Given the description of an element on the screen output the (x, y) to click on. 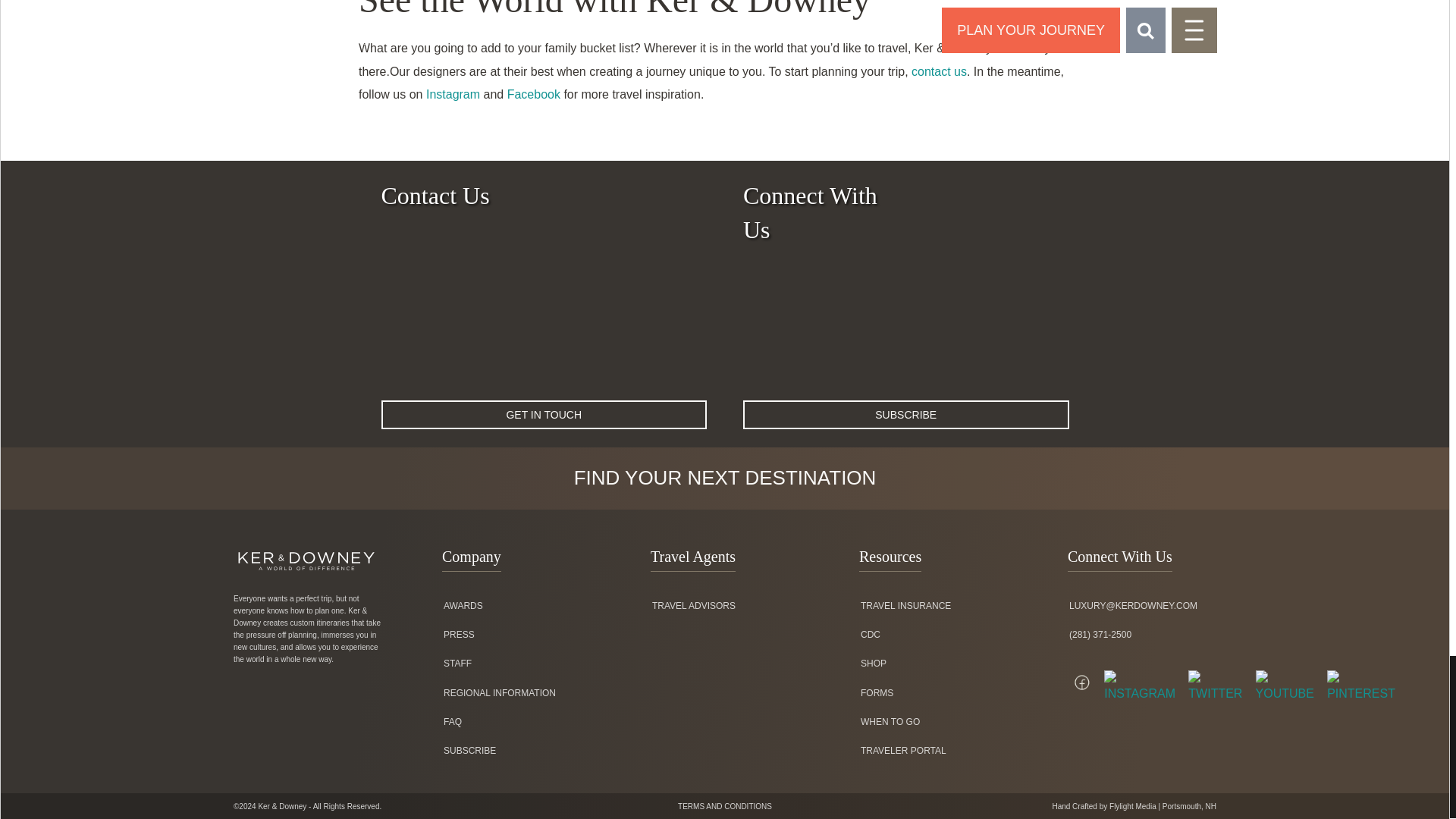
Contact (938, 71)
